Given the description of an element on the screen output the (x, y) to click on. 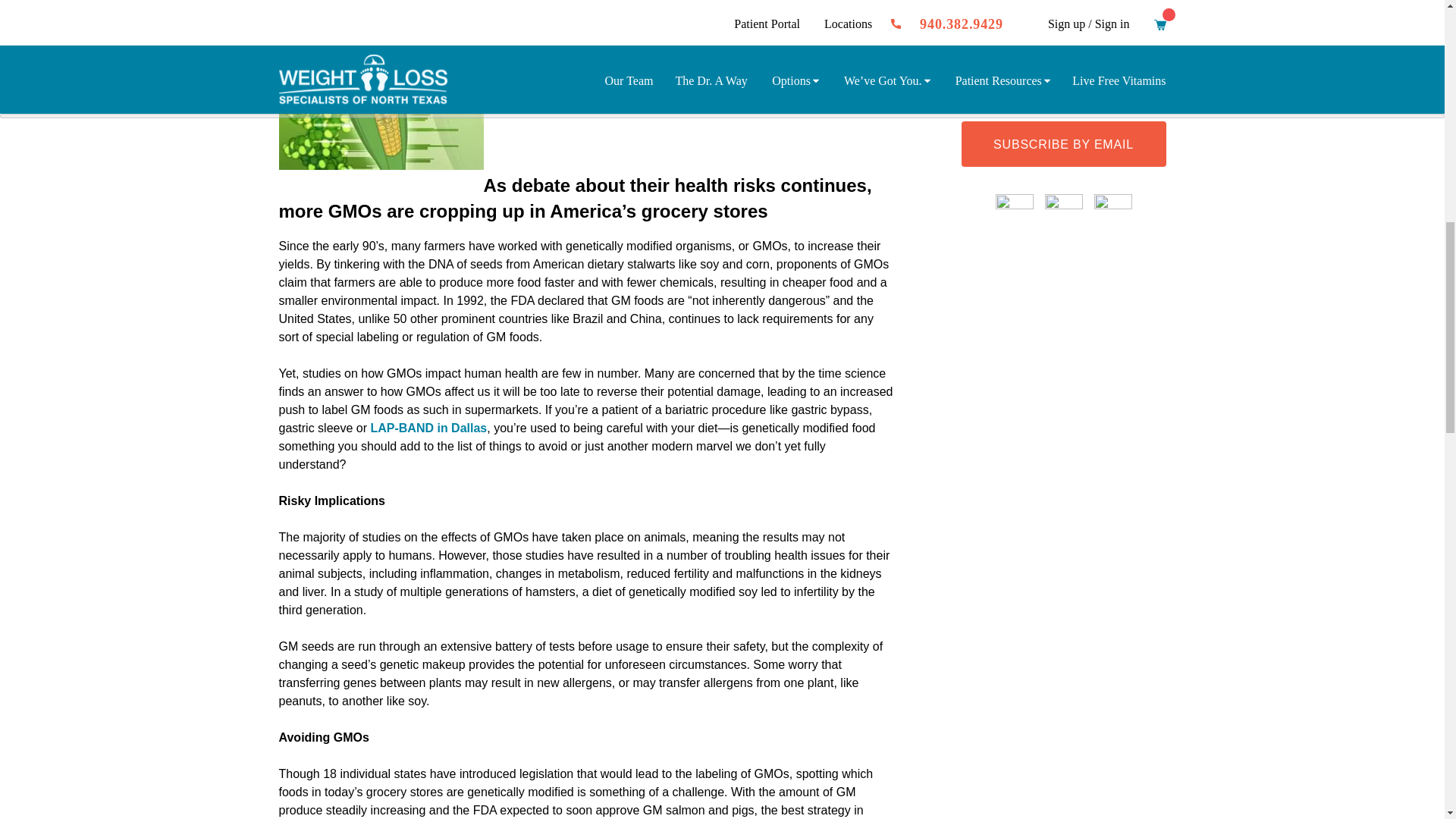
Subscribe by Email (1063, 144)
Should genetically modified foods be labeled (381, 95)
